Given the description of an element on the screen output the (x, y) to click on. 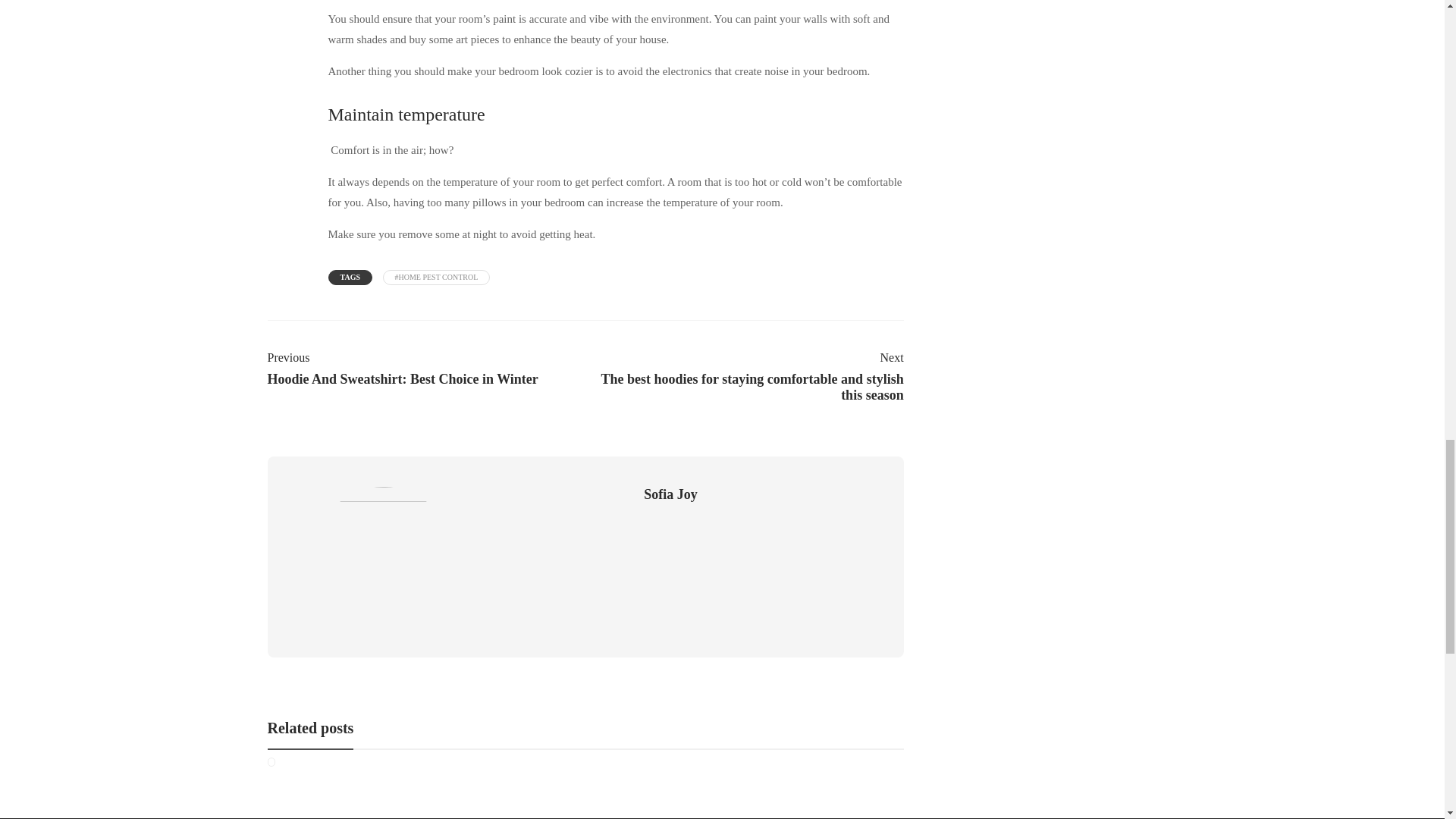
Sofia Joy (422, 367)
TAGS (670, 494)
